Given the description of an element on the screen output the (x, y) to click on. 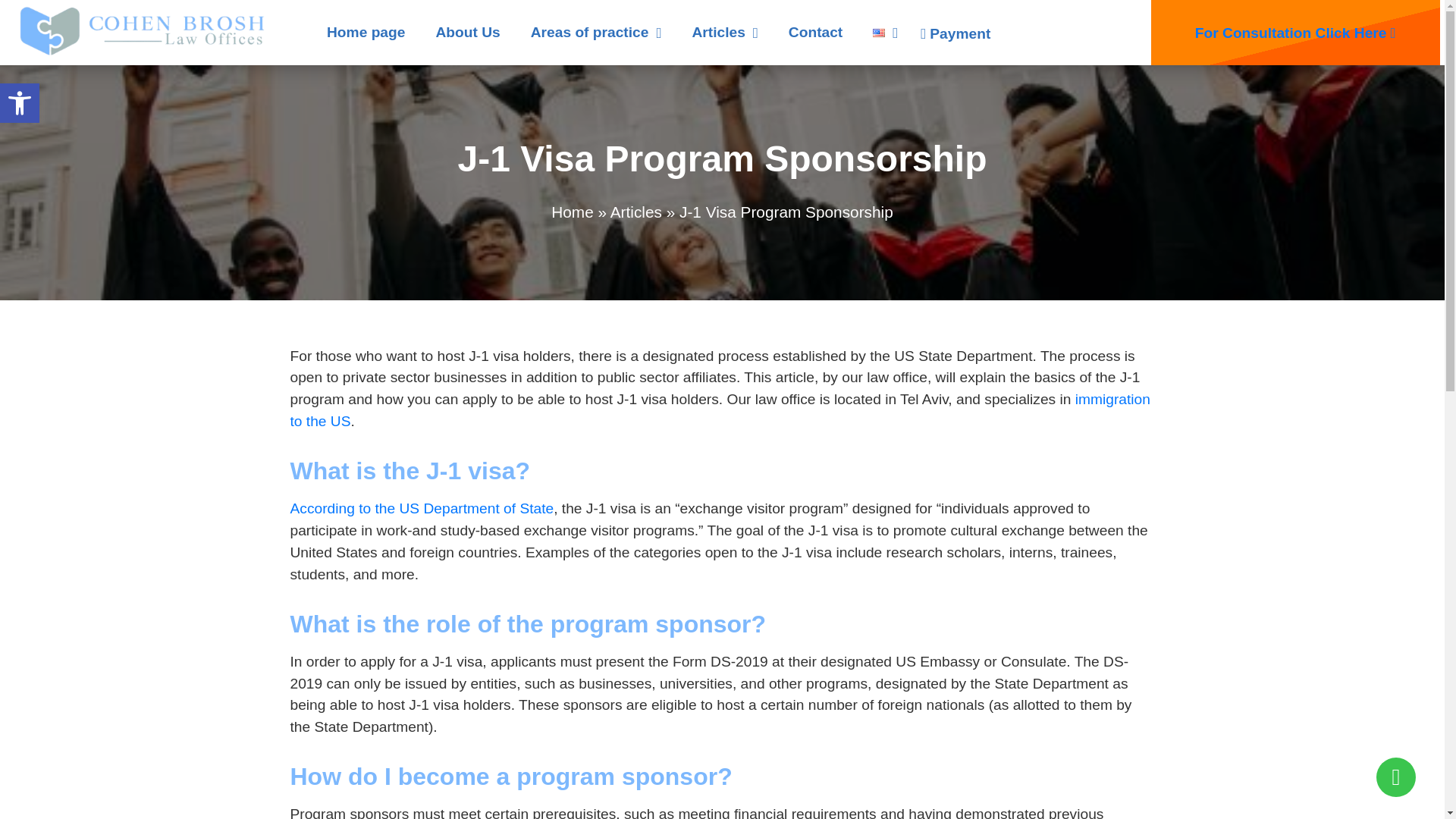
Accessibility Tools (19, 102)
About Us (467, 32)
Accessibility Tools (19, 102)
Home page (365, 32)
Areas of practice (596, 32)
